Given the description of an element on the screen output the (x, y) to click on. 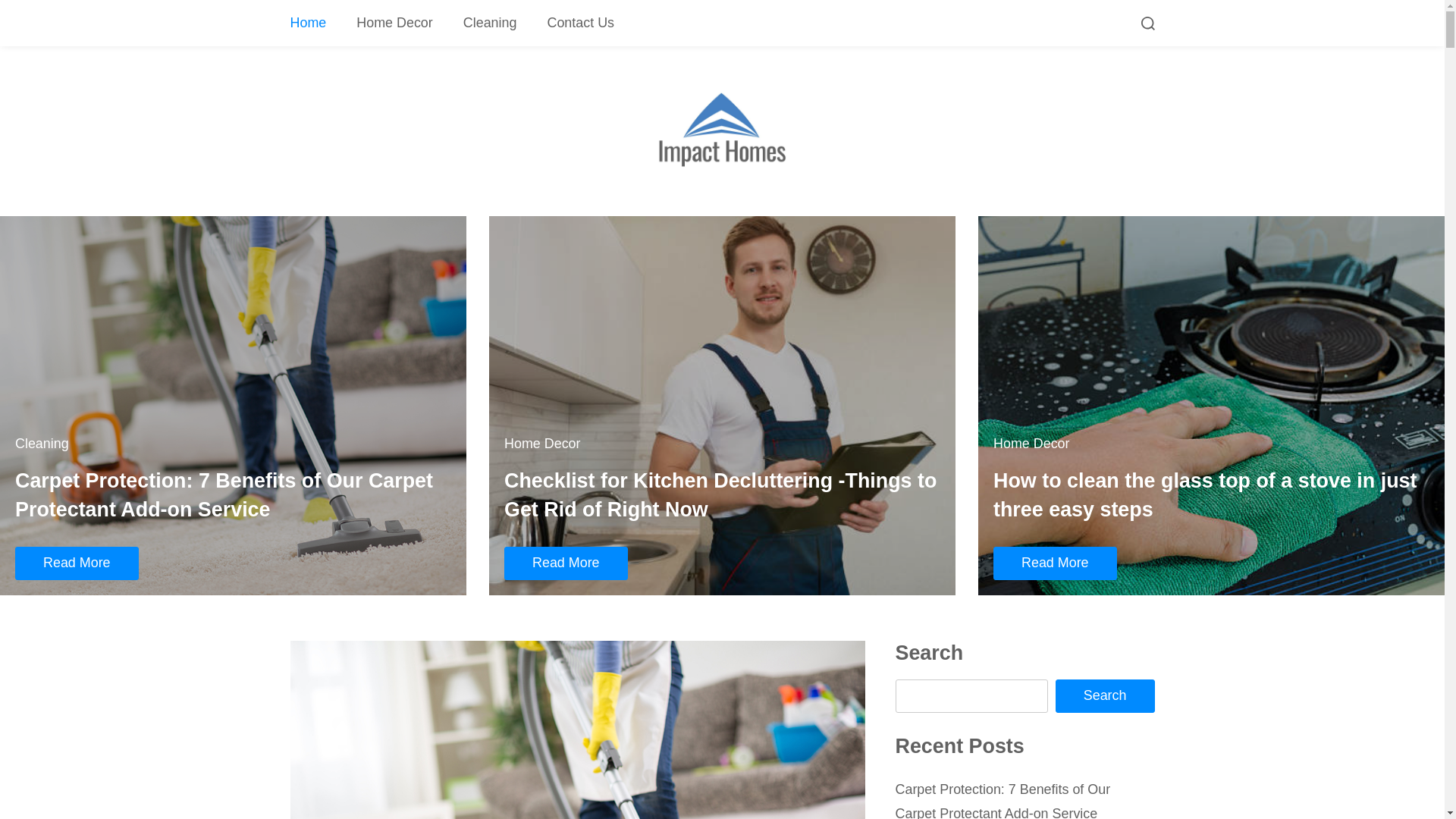
Read More Element type: text (1055, 563)
Home Decor Element type: text (1031, 443)
Search Element type: text (1104, 695)
Home Decor Element type: text (394, 23)
Read More Element type: text (76, 563)
Cleaning Element type: text (42, 443)
Contact Us Element type: text (580, 23)
Home Element type: text (307, 23)
Read More Element type: text (565, 563)
Cleaning Element type: text (490, 23)
Home Decor Element type: text (542, 443)
